Given the description of an element on the screen output the (x, y) to click on. 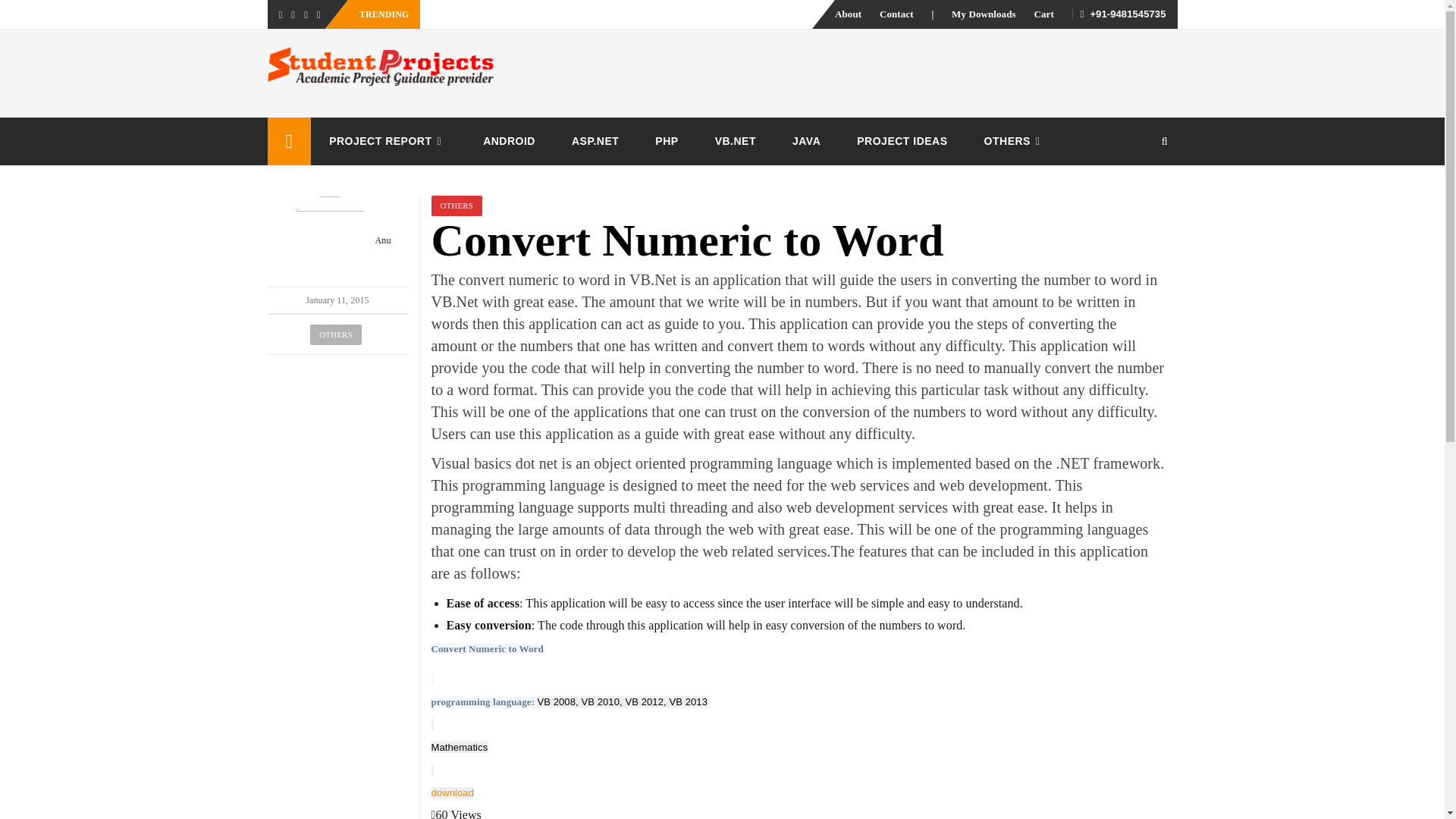
Cart (1042, 13)
ASP.NET (595, 140)
OTHERS (1015, 141)
PROJECT REPORT (387, 141)
PROJECT IDEAS (901, 140)
Contact (896, 13)
ANDROID (508, 140)
PHP (666, 140)
VB.NET (735, 140)
My Downloads (984, 13)
JAVA (806, 140)
About (847, 13)
